Given the description of an element on the screen output the (x, y) to click on. 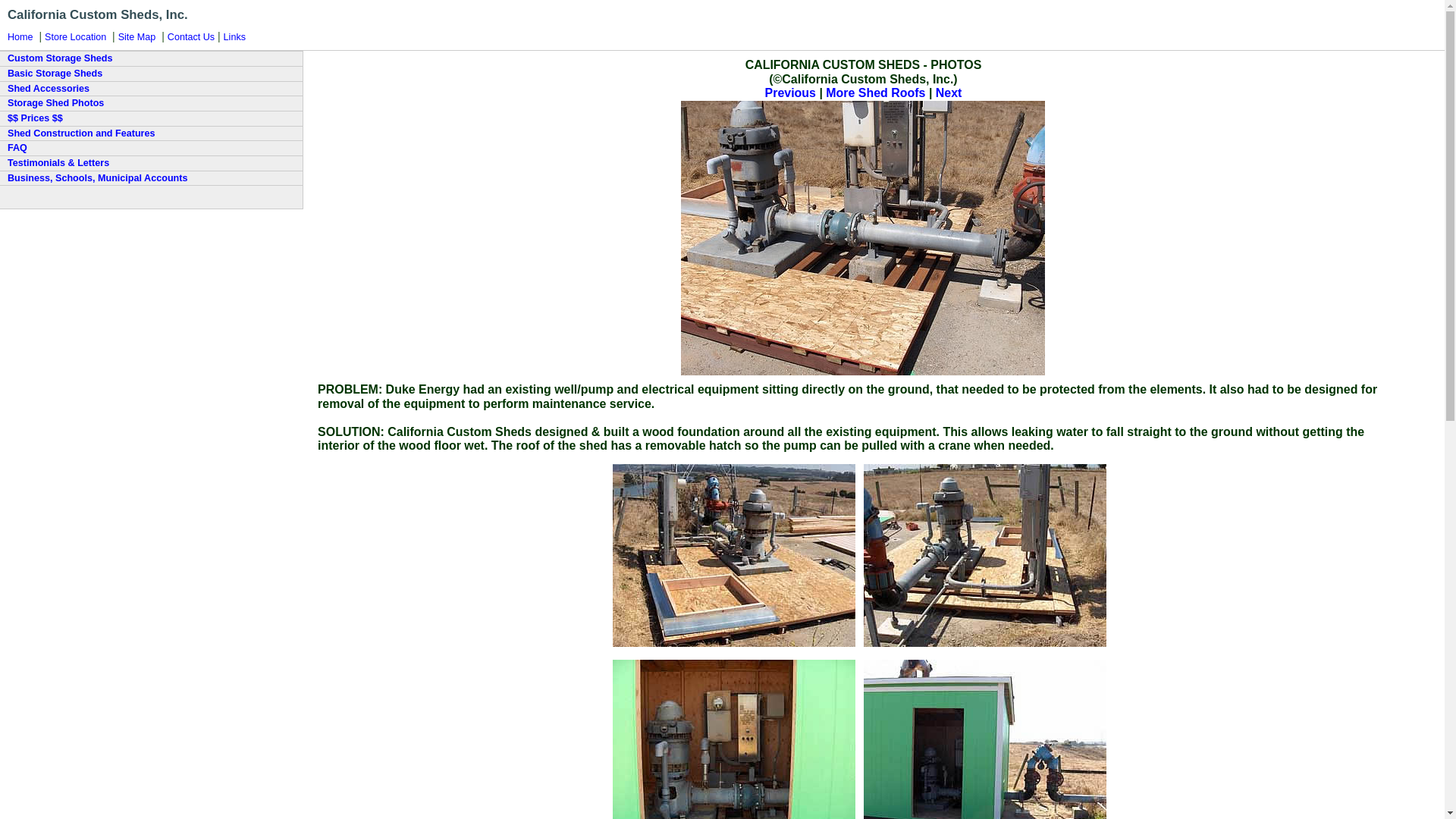
Basic Storage Sheds (151, 73)
Store Location (77, 36)
Storage Shed Photos (151, 102)
More Shed Roofs (876, 92)
Business, Schools, Municipal Accounts (151, 177)
Custom Storage Sheds (151, 58)
FAQ (151, 147)
Shed Accessories (151, 88)
Shed Construction and Features (151, 133)
Links (236, 36)
